Given the description of an element on the screen output the (x, y) to click on. 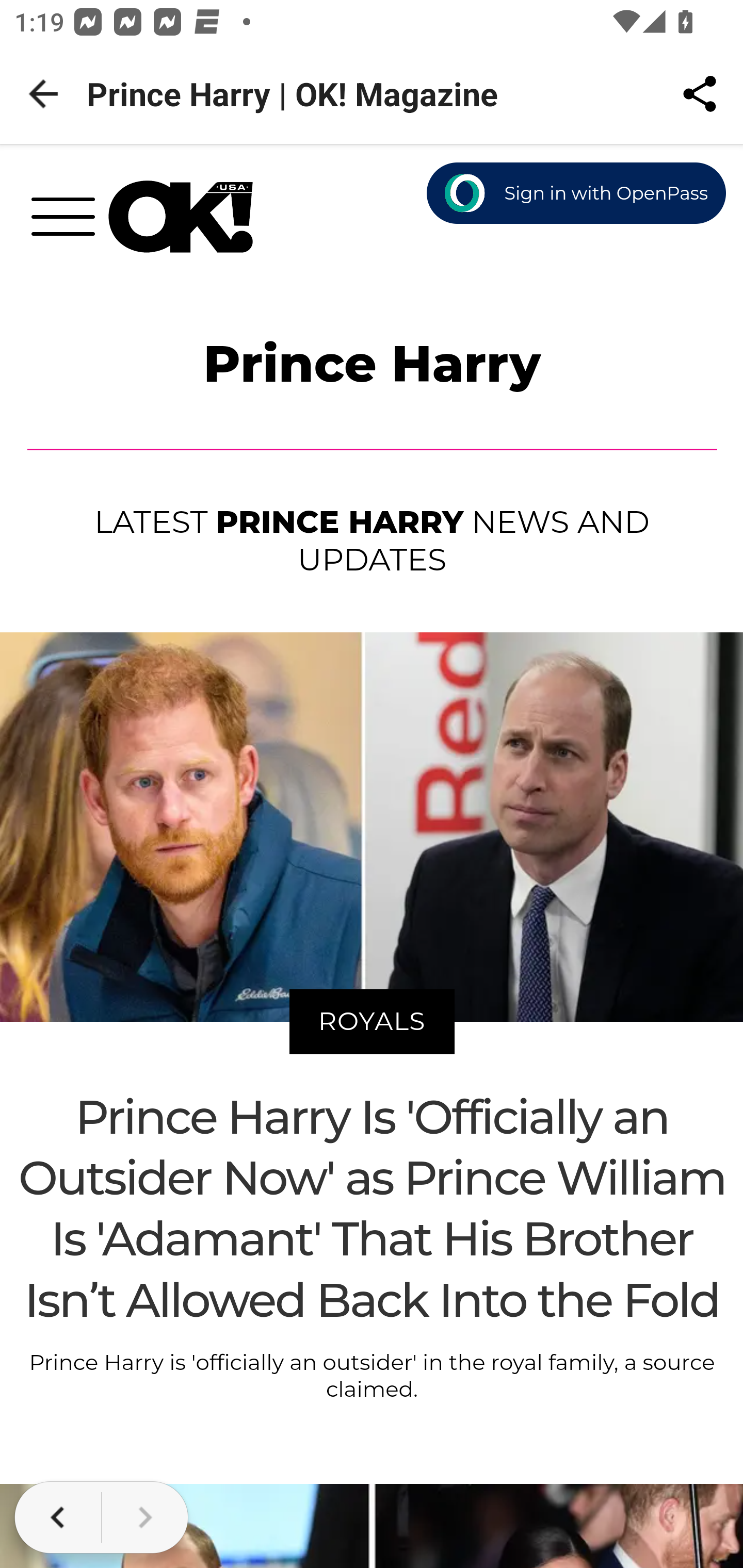
Sign in with OpenPass Button (576, 194)
toggle (70, 221)
OK Magazine (180, 217)
